Given the description of an element on the screen output the (x, y) to click on. 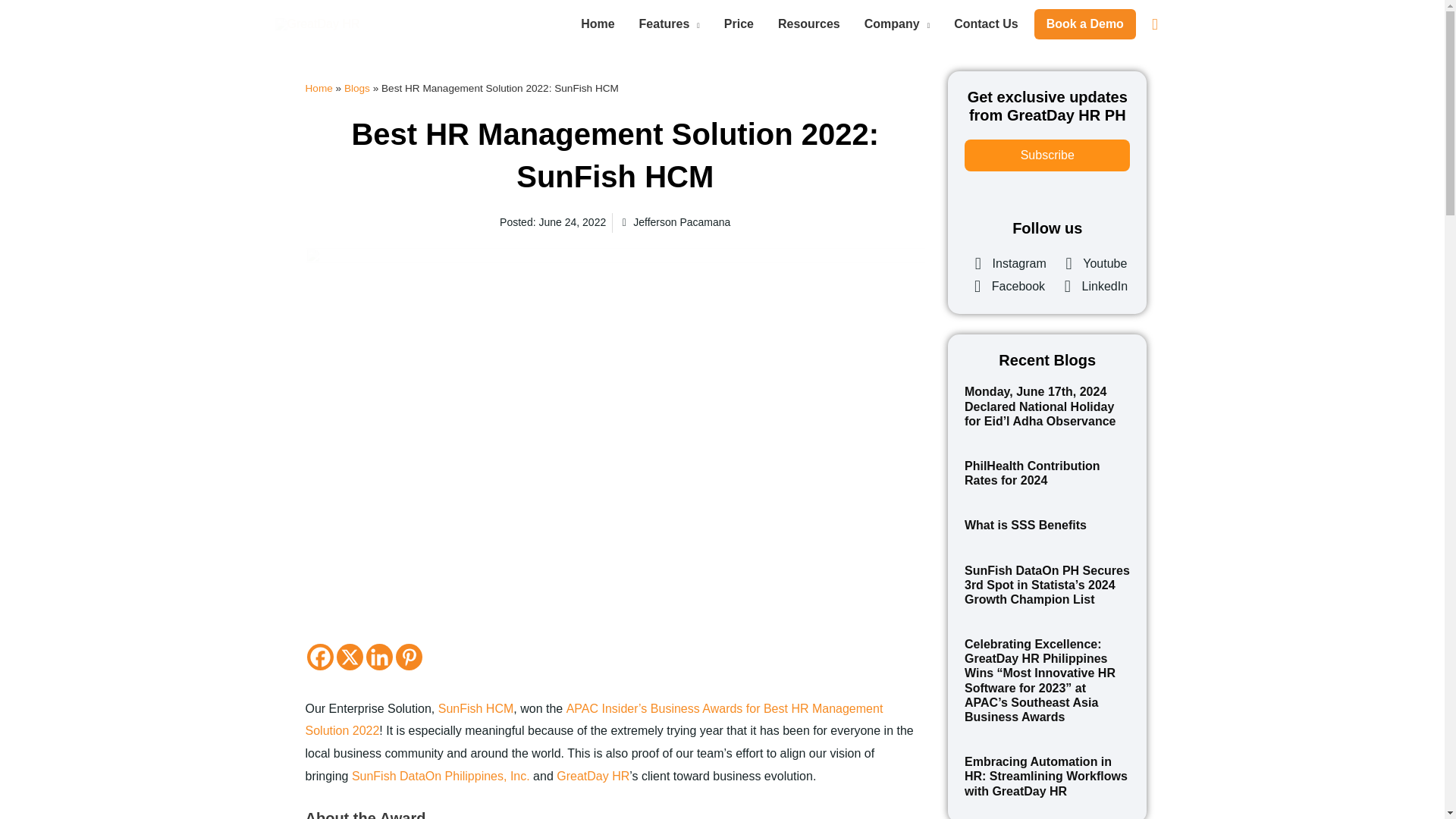
Company (896, 24)
Resources (808, 24)
Price (738, 24)
Pinterest (409, 656)
X (349, 656)
Linkedin (378, 656)
Features (669, 24)
Home (597, 24)
Facebook (319, 656)
